Given the description of an element on the screen output the (x, y) to click on. 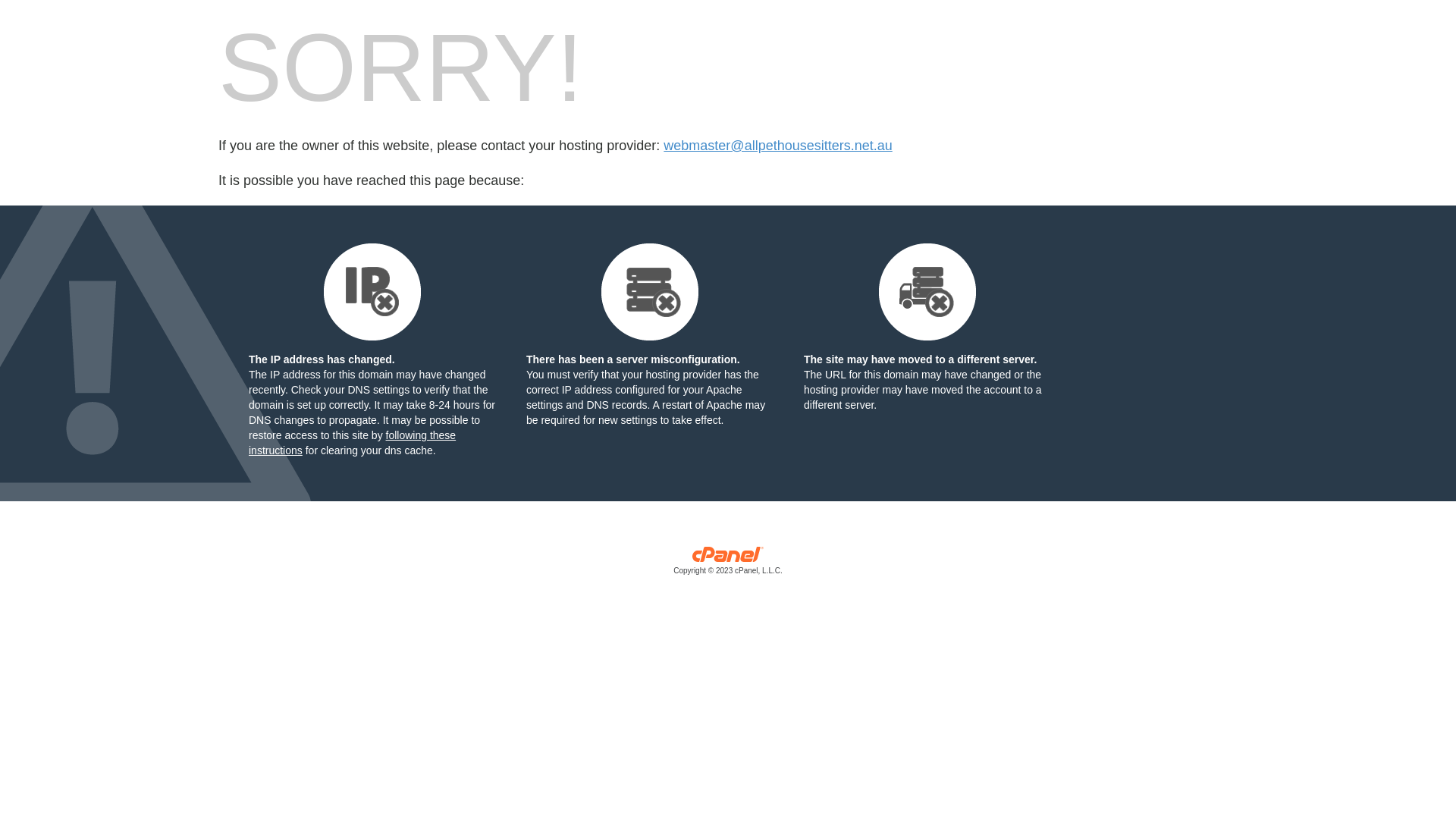
following these instructions Element type: text (351, 442)
webmaster@allpethousesitters.net.au Element type: text (777, 145)
